Given the description of an element on the screen output the (x, y) to click on. 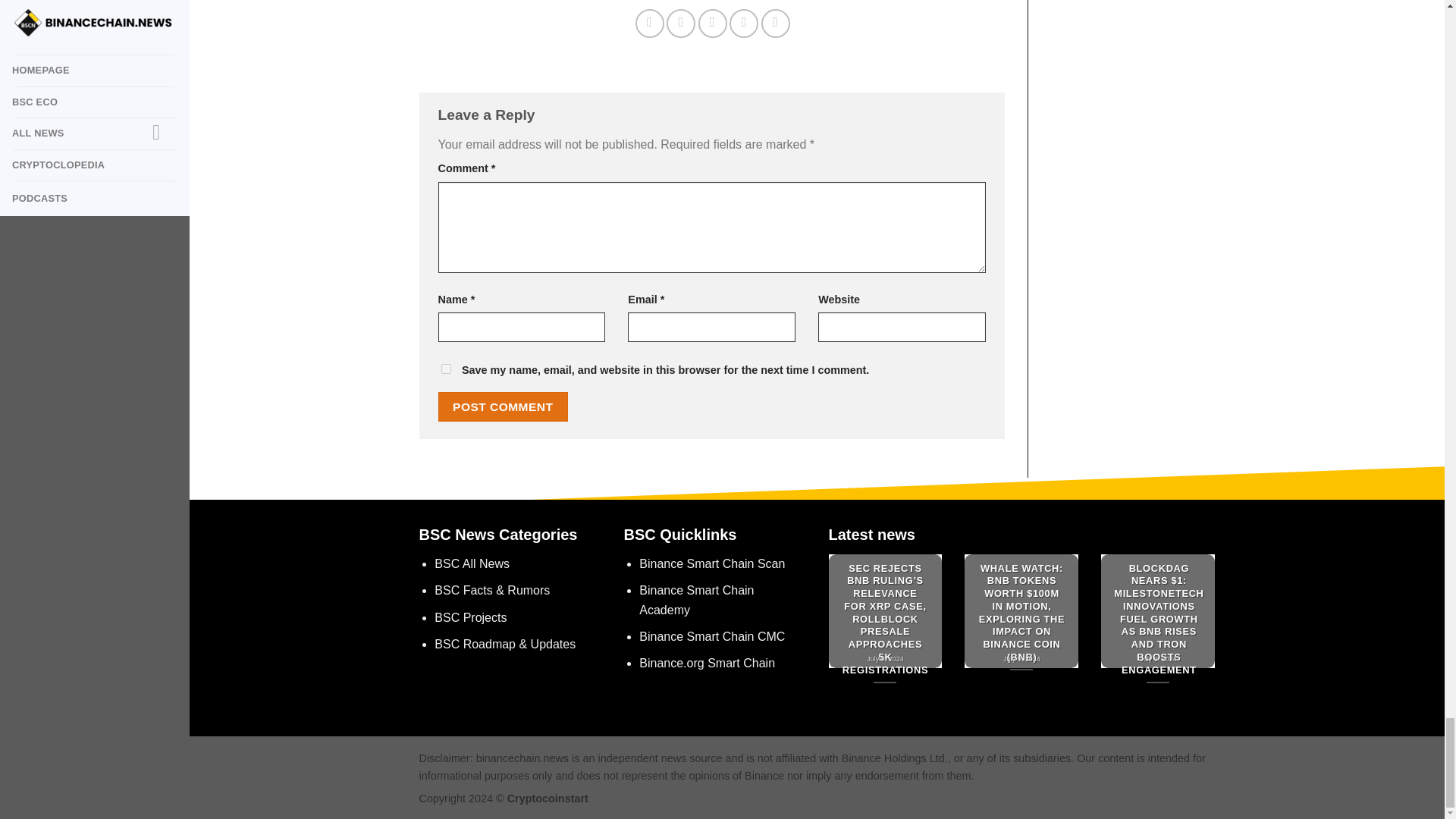
yes (446, 368)
Post Comment (503, 406)
Post Comment (503, 406)
Share on Facebook (648, 23)
Share on LinkedIn (775, 23)
Pin on Pinterest (743, 23)
Share on Twitter (680, 23)
Email to a Friend (712, 23)
